Given the description of an element on the screen output the (x, y) to click on. 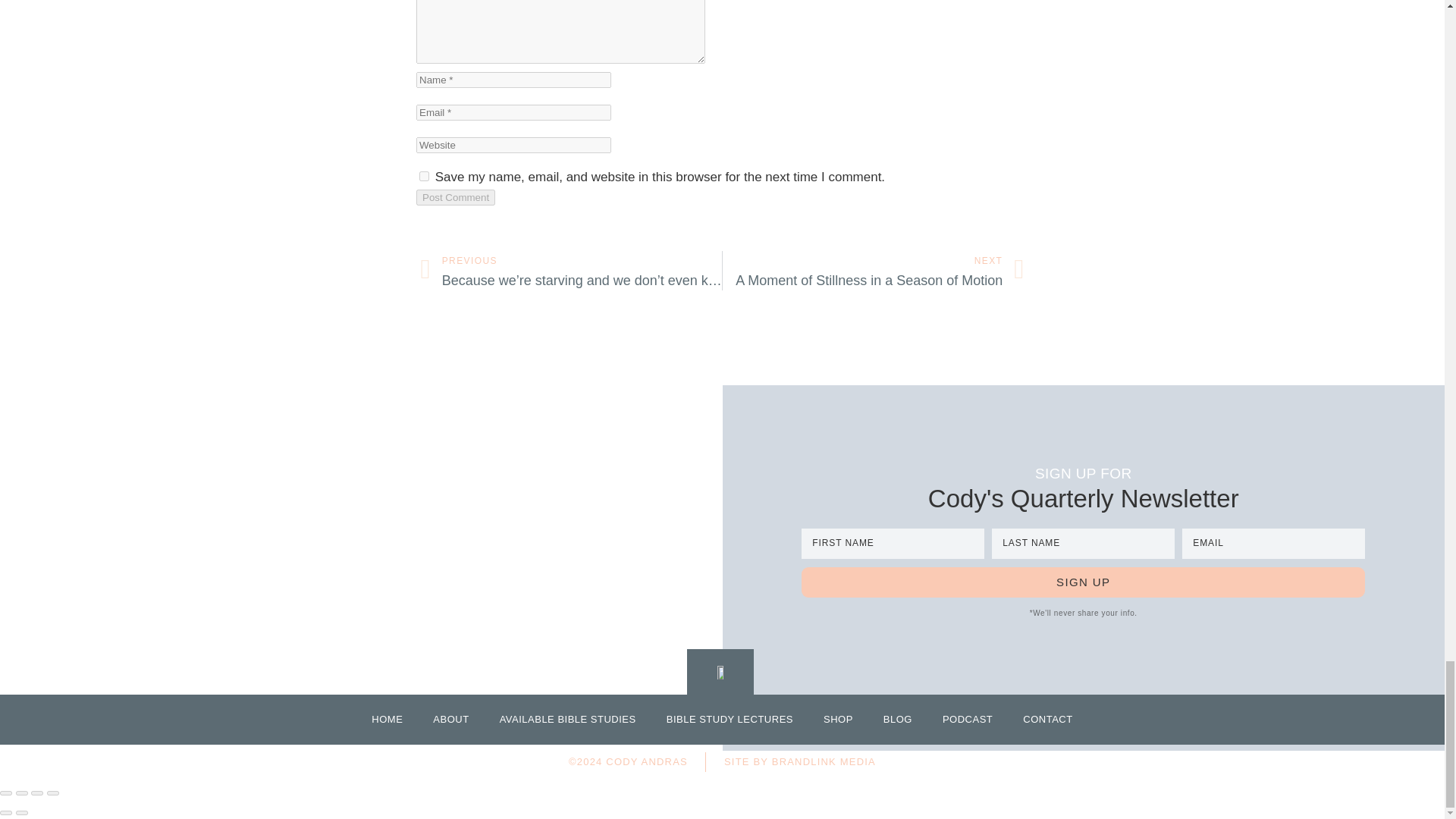
SIGN UP (1083, 582)
yes (424, 175)
Post Comment (455, 197)
Post Comment (455, 197)
